Given the description of an element on the screen output the (x, y) to click on. 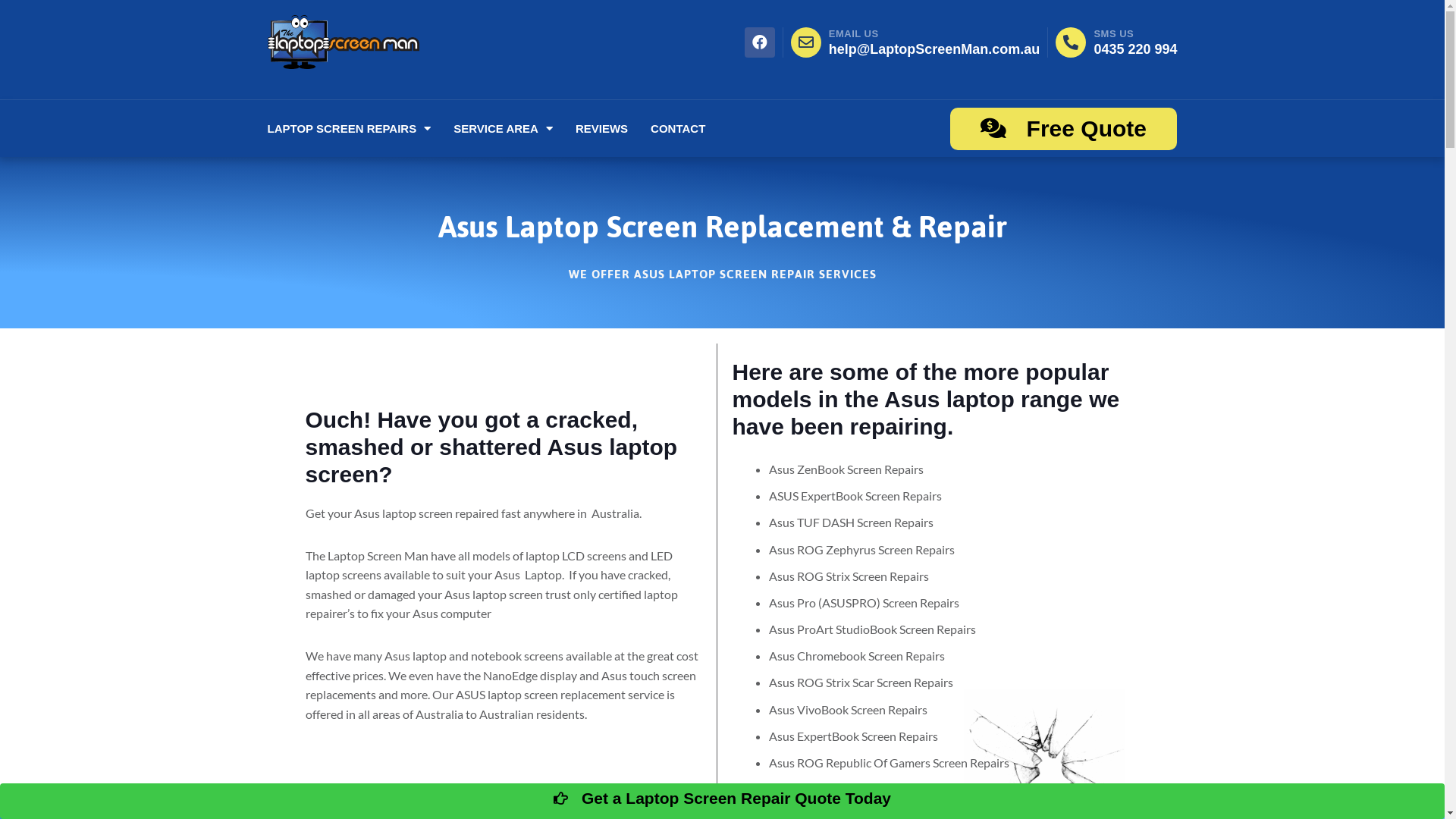
EMAIL US Element type: text (853, 32)
Facebook Element type: text (759, 42)
Free Quote Element type: text (1063, 128)
SERVICE AREA Element type: text (502, 128)
LAPTOP SCREEN REPAIRS Element type: text (348, 128)
CONTACT Element type: text (677, 128)
SMS US Element type: text (1113, 32)
REVIEWS Element type: text (601, 128)
